Given the description of an element on the screen output the (x, y) to click on. 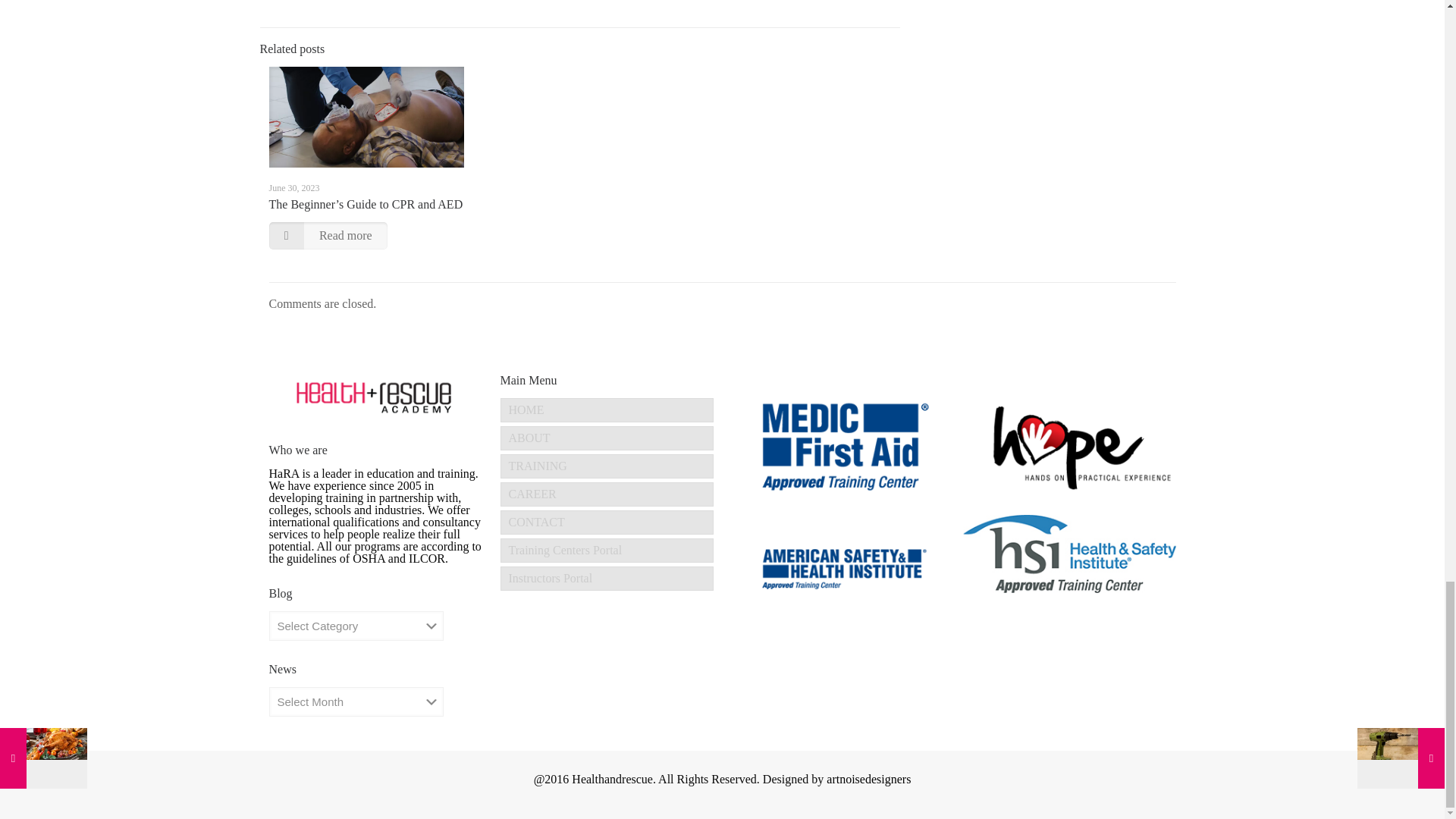
artnoisedesigners (869, 779)
ABOUT (606, 437)
CONTACT (606, 522)
Instructors Portal (606, 578)
Read more (327, 235)
HOME (606, 410)
CAREER (606, 494)
Training Centers Portal (606, 550)
TRAINING (606, 466)
